Given the description of an element on the screen output the (x, y) to click on. 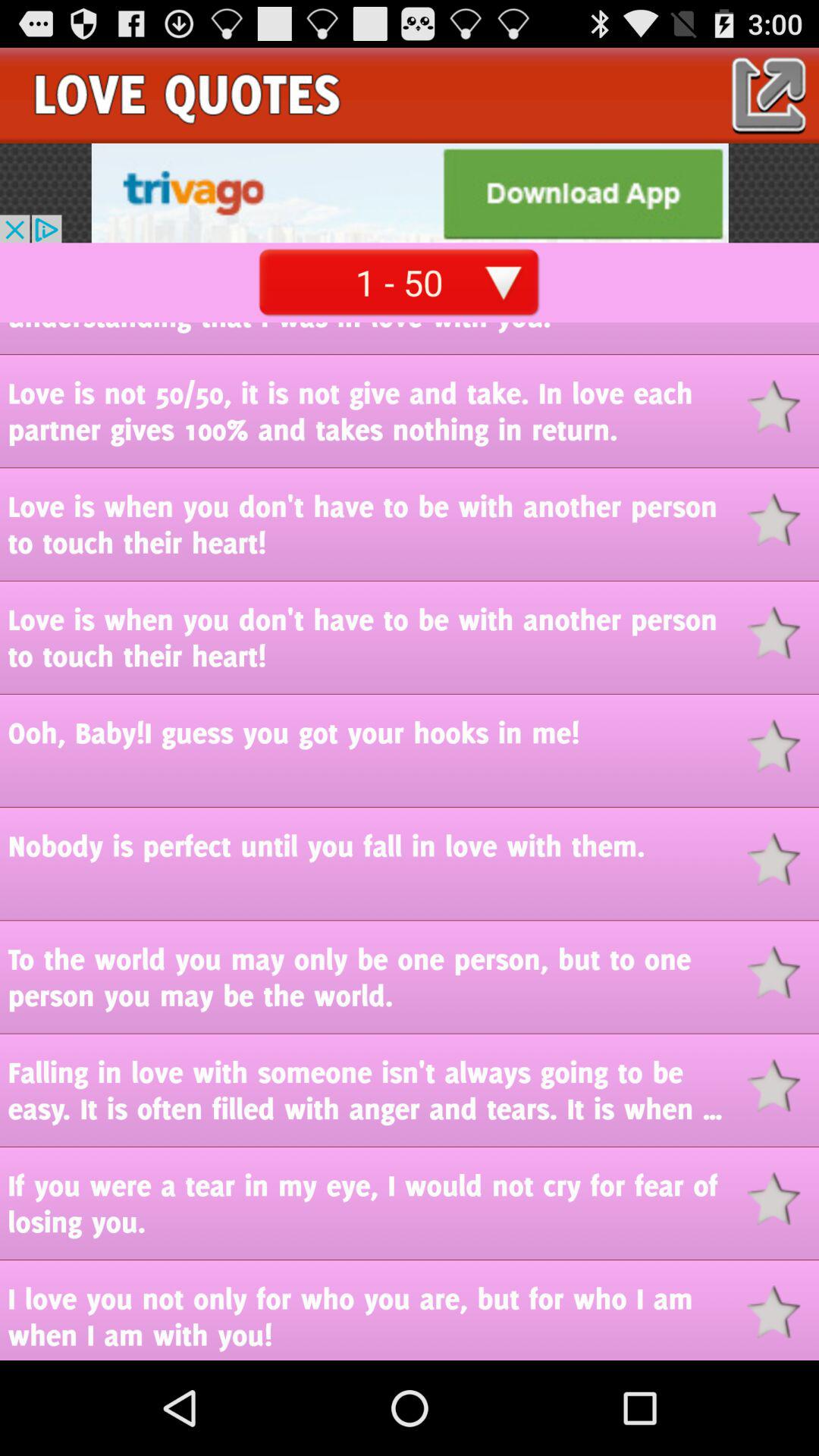
share the article (783, 746)
